Given the description of an element on the screen output the (x, y) to click on. 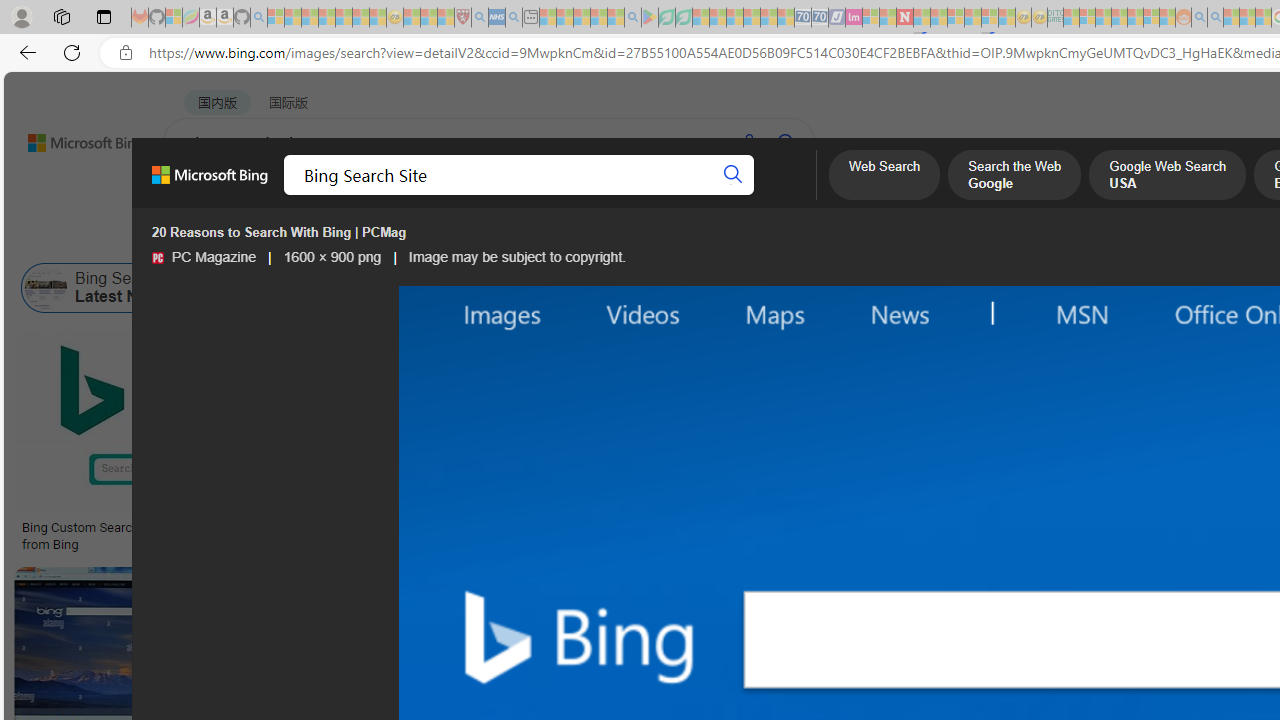
PC Magazine (157, 257)
Bing Search Terms (1081, 287)
Bing Advanced Search Tricks You Should Know (803, 528)
Bing Search Latest News (45, 287)
Color (305, 237)
